Given the description of an element on the screen output the (x, y) to click on. 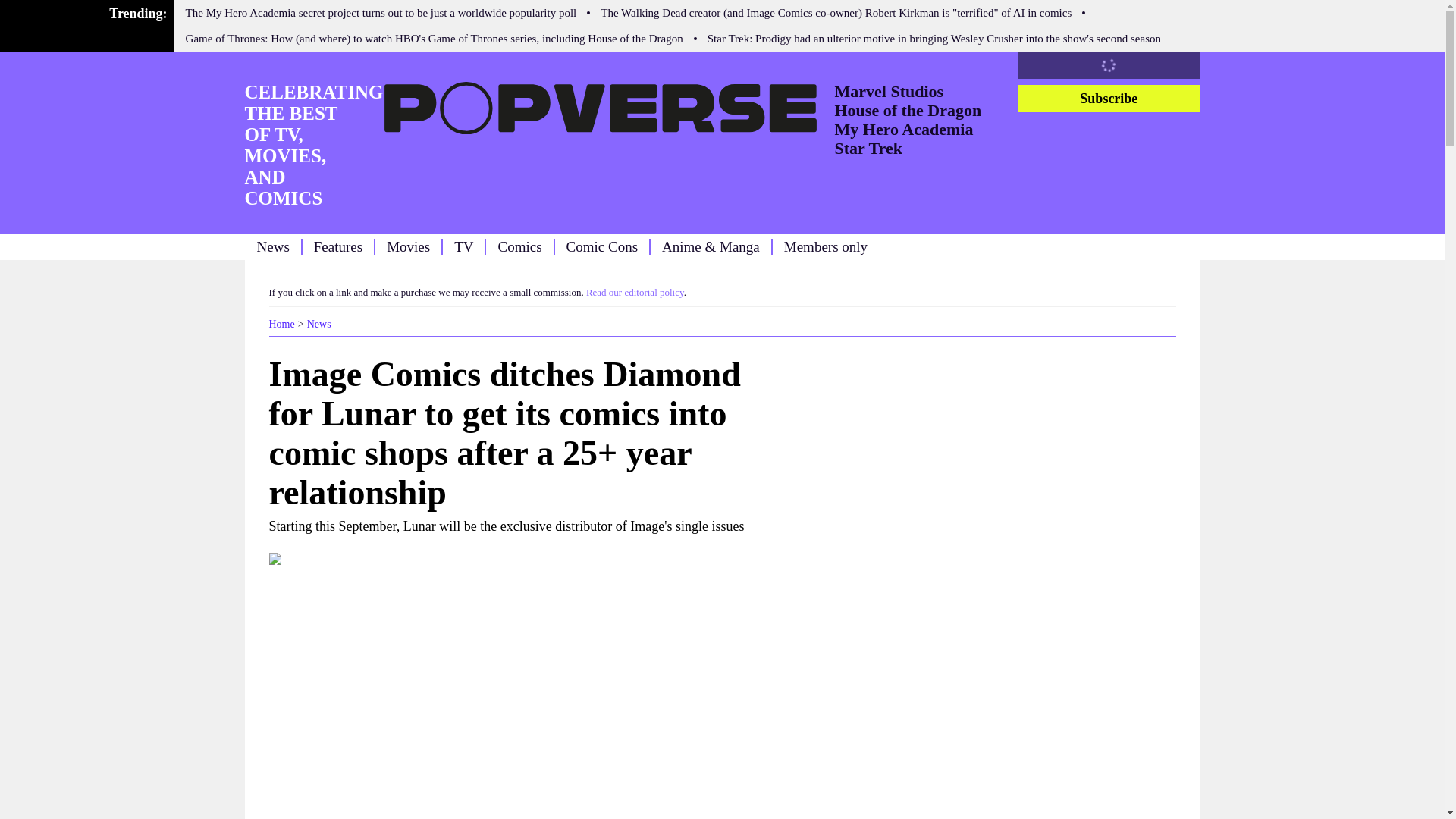
Movies (408, 246)
News (272, 246)
News (272, 246)
House of the Dragon (907, 109)
Members only (825, 246)
TV (463, 246)
News (319, 324)
Star Trek (867, 148)
Movies (408, 246)
My Hero Academia (903, 128)
Comic Cons (601, 246)
Home (280, 324)
Marvel Studios (888, 90)
